Given the description of an element on the screen output the (x, y) to click on. 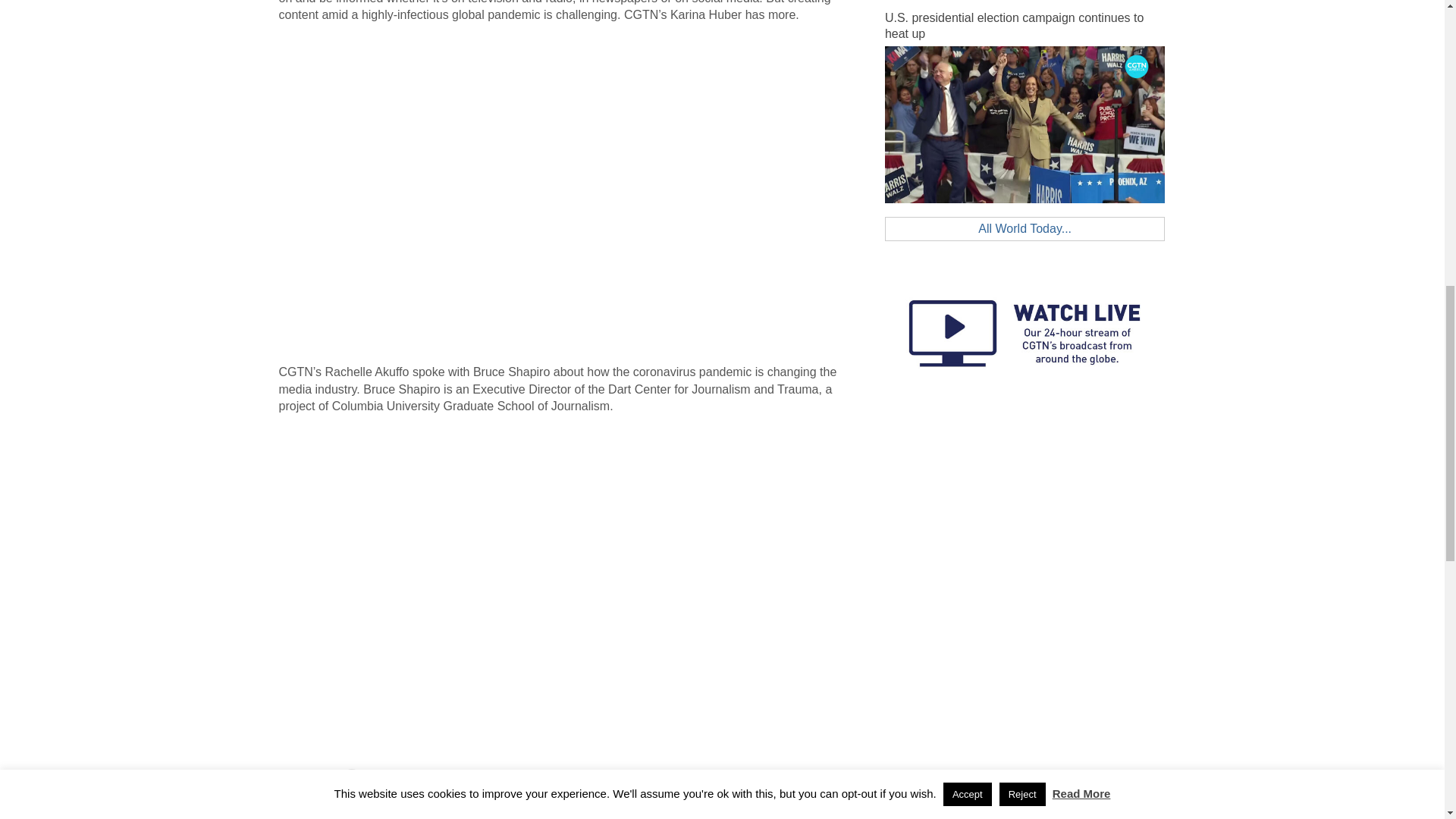
Click to share on LinkedIn (381, 784)
Click to share on Twitter (320, 784)
Click to share on Facebook (290, 784)
